Given the description of an element on the screen output the (x, y) to click on. 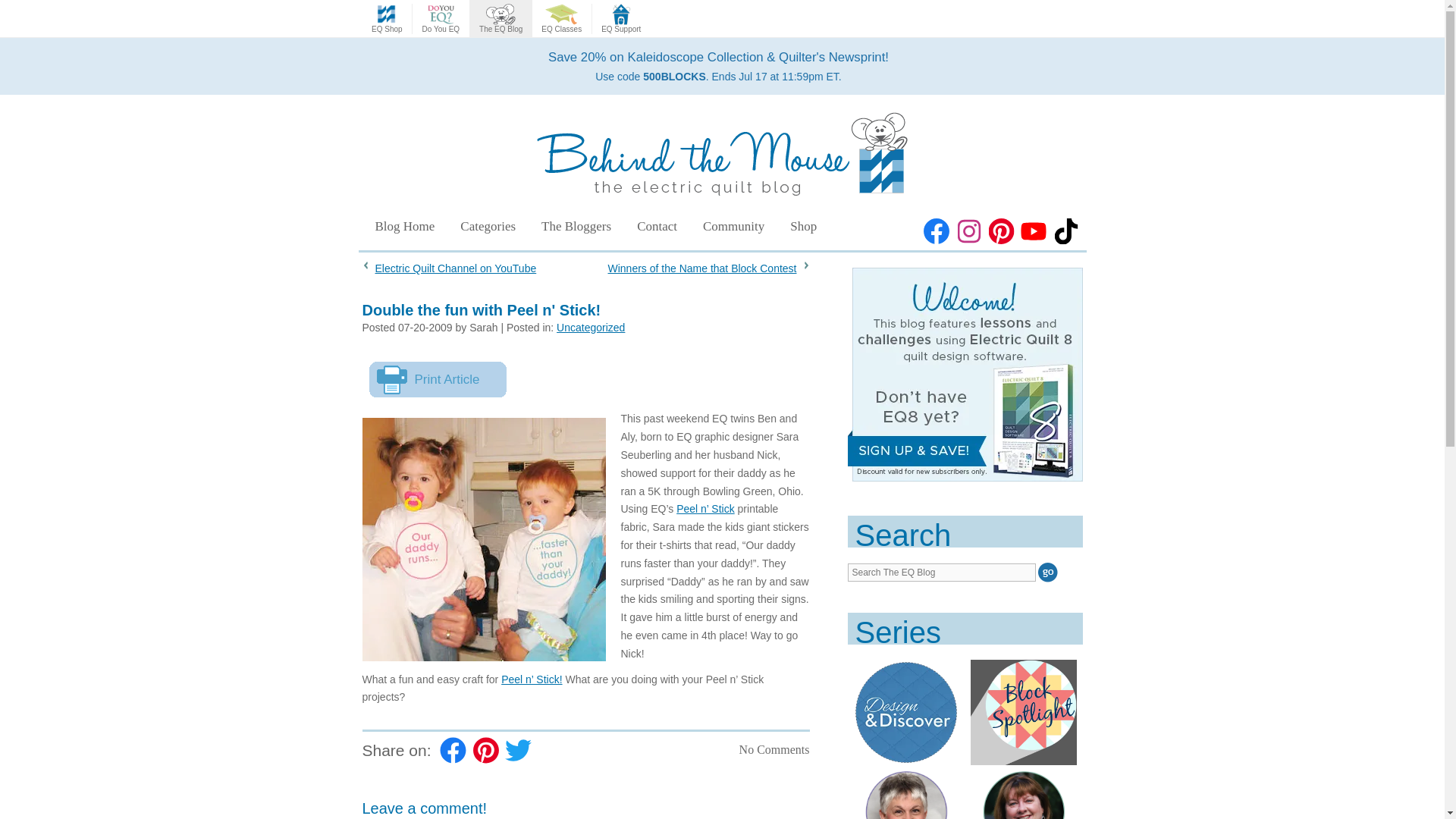
EQ Support (620, 19)
EQ Shop (387, 19)
Search (1048, 572)
Do You EQ (440, 19)
EQ Classes (561, 19)
The EQ Blog (500, 19)
Search for: (941, 572)
Contact (657, 226)
details (718, 66)
Shop (803, 226)
Electric Quilt (387, 19)
Community (733, 226)
Blog Home (403, 226)
Search (1048, 572)
EQ Classes (561, 19)
